Given the description of an element on the screen output the (x, y) to click on. 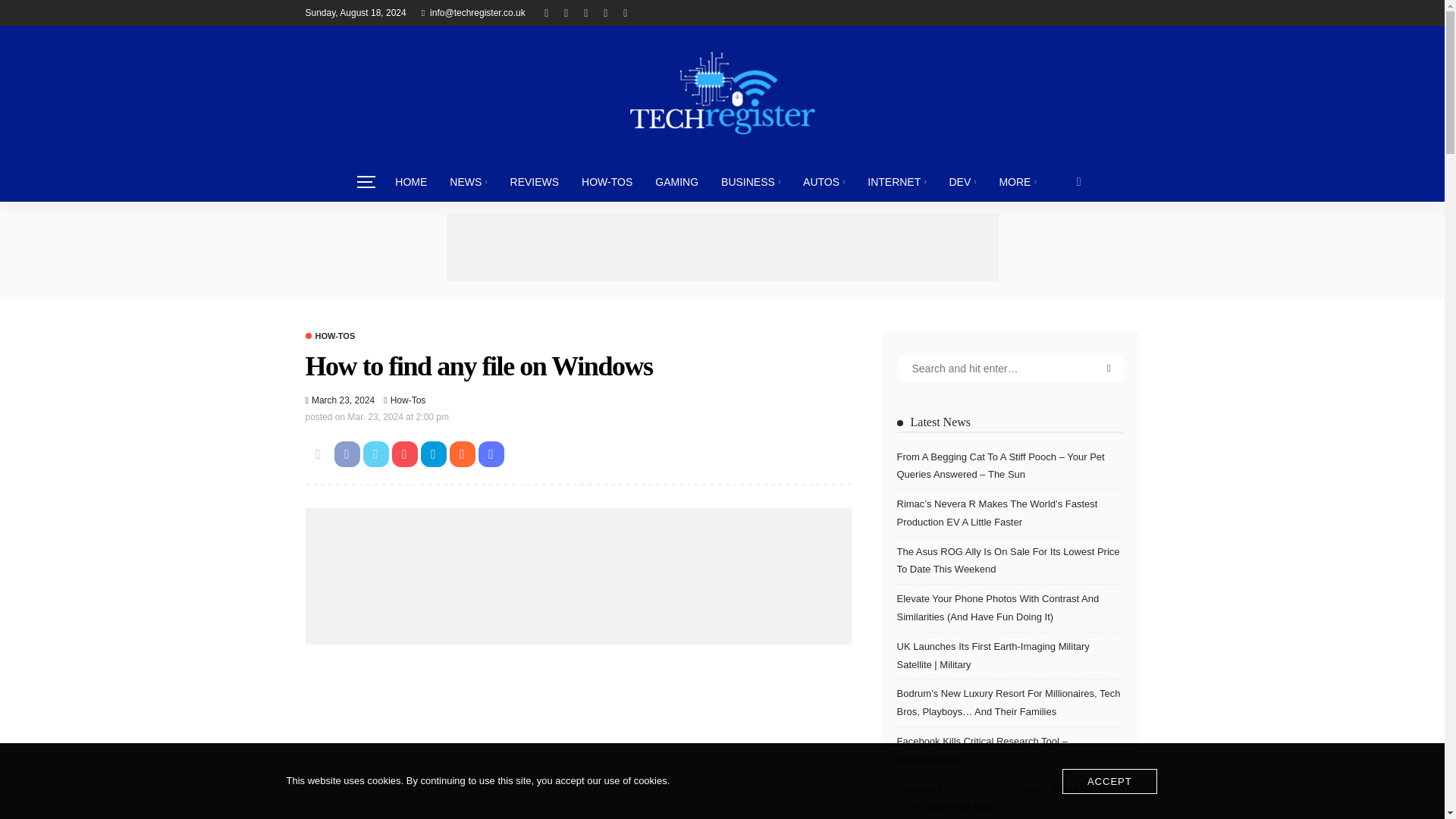
How-tos (408, 400)
search (1079, 181)
Advertisement (721, 246)
Techregister (721, 93)
How-tos (329, 336)
Advertisement (577, 728)
